Given the description of an element on the screen output the (x, y) to click on. 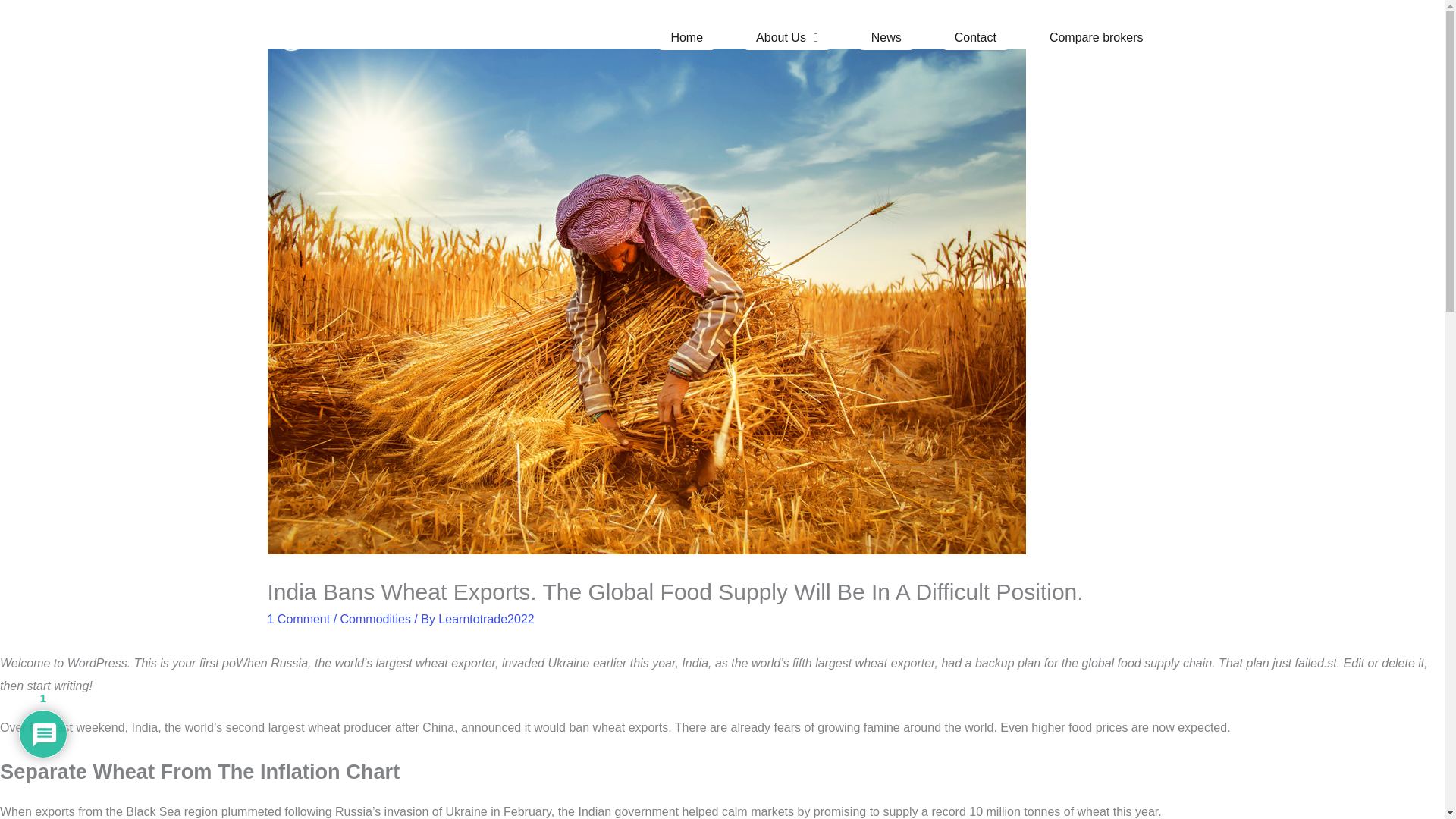
News (885, 37)
1 Comment (298, 618)
Contact (975, 37)
View all posts by Learntotrade2022 (486, 618)
Commodities (375, 618)
Learntotrade2022 (486, 618)
Home (686, 37)
About Us (786, 37)
Compare brokers (1095, 37)
